Given the description of an element on the screen output the (x, y) to click on. 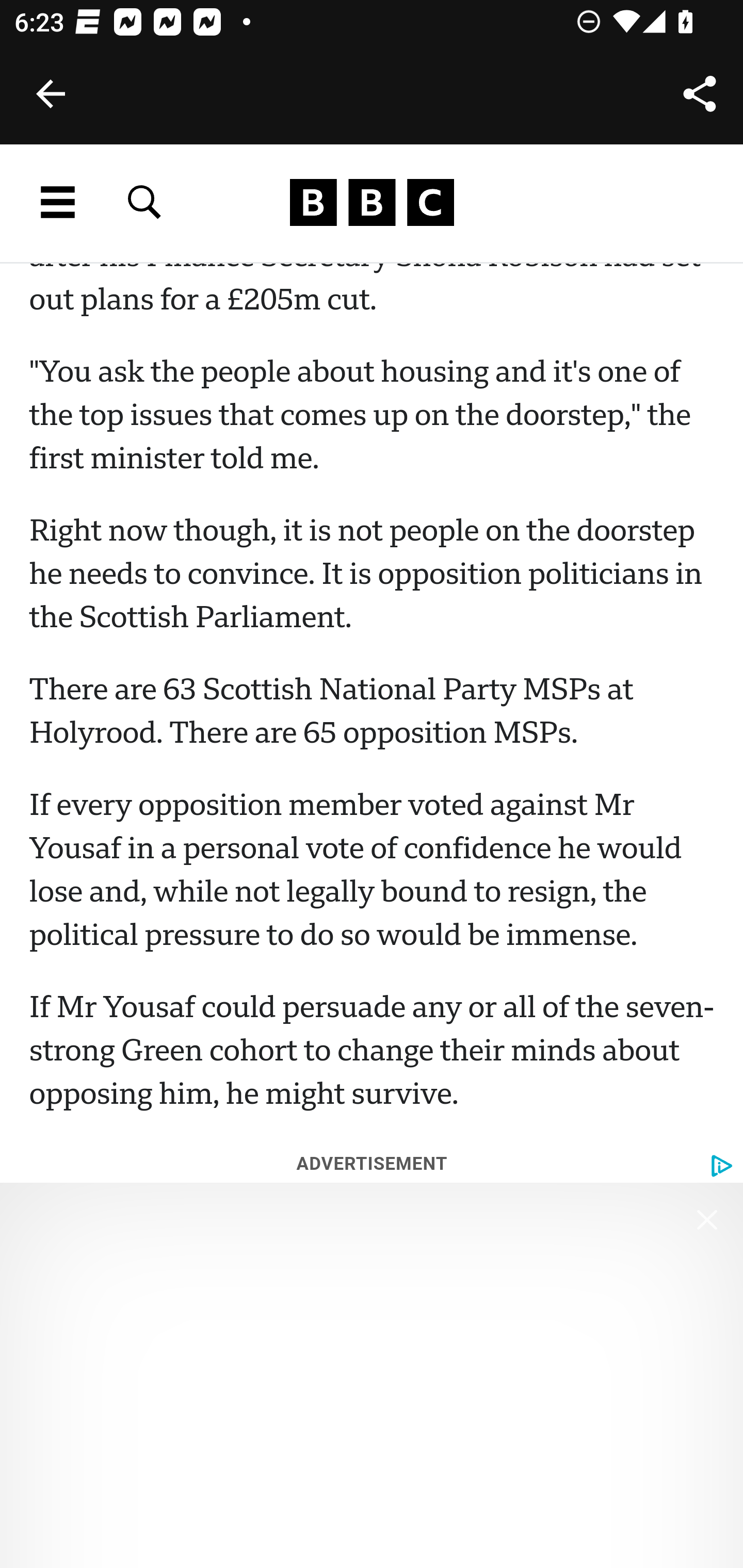
Back (50, 93)
Share (699, 93)
www.bbc (371, 203)
